Given the description of an element on the screen output the (x, y) to click on. 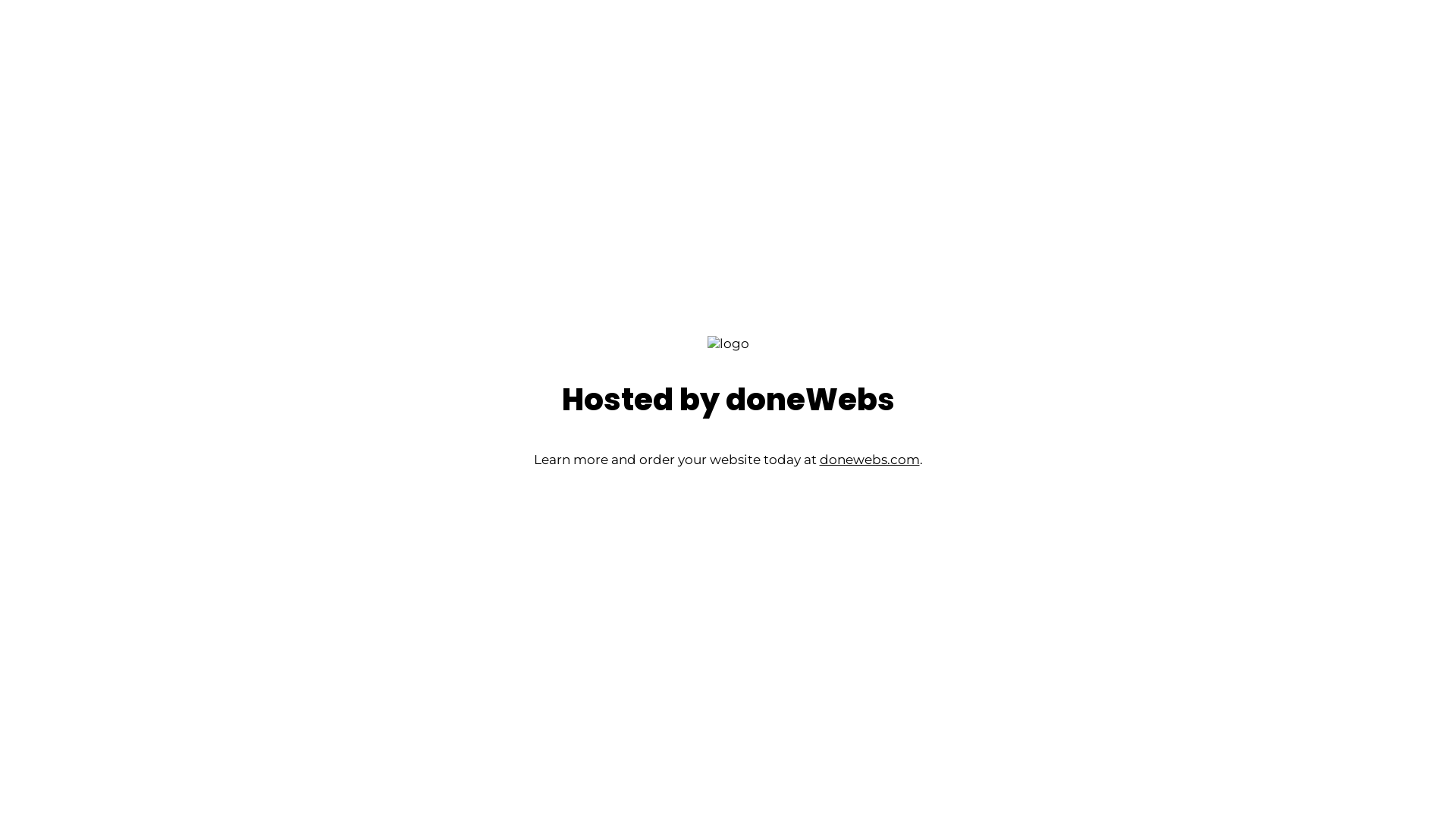
donewebs.com Element type: text (869, 459)
